Given the description of an element on the screen output the (x, y) to click on. 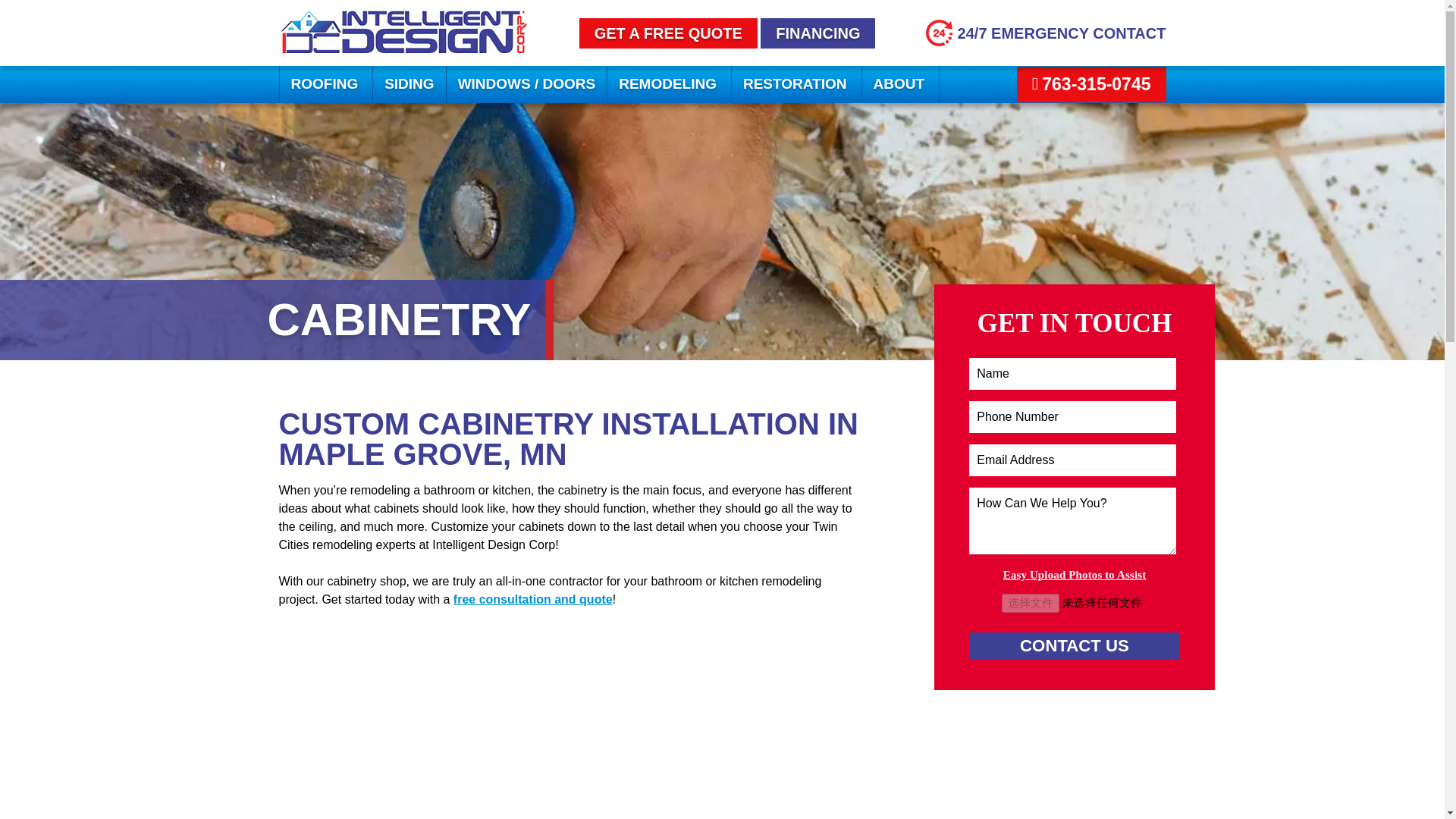
Restoration (796, 84)
Remodeling (668, 84)
Free Estimate (668, 33)
ROOFING (325, 84)
GET A FREE QUOTE (668, 33)
Siding (408, 84)
Roofing (325, 84)
SIDING (408, 84)
Careers (817, 33)
Idesign (404, 48)
